Given the description of an element on the screen output the (x, y) to click on. 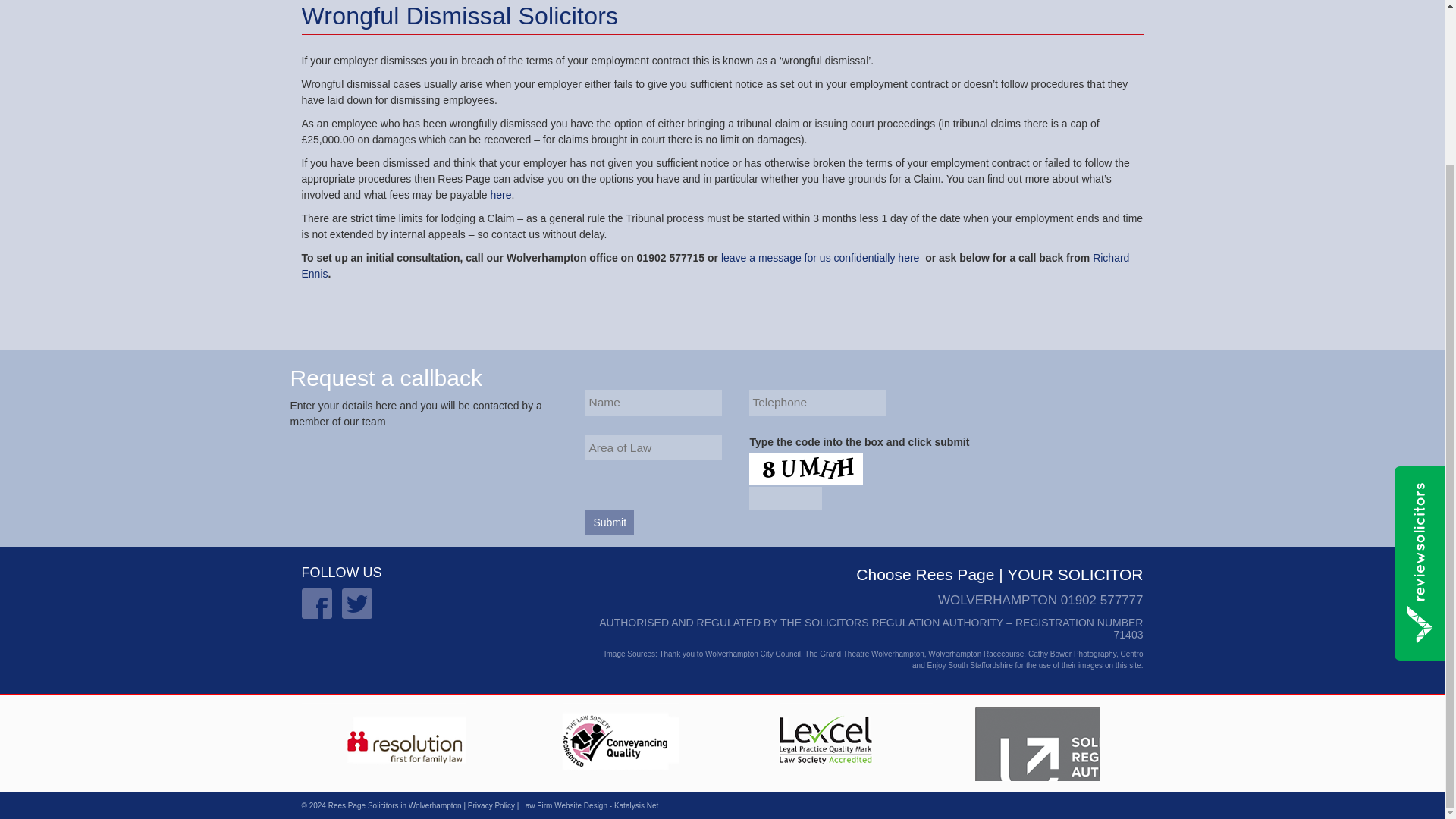
Follow us on Facebook (316, 603)
Follow us on Twitter (357, 603)
Submit (609, 522)
leave us a message (820, 257)
